Given the description of an element on the screen output the (x, y) to click on. 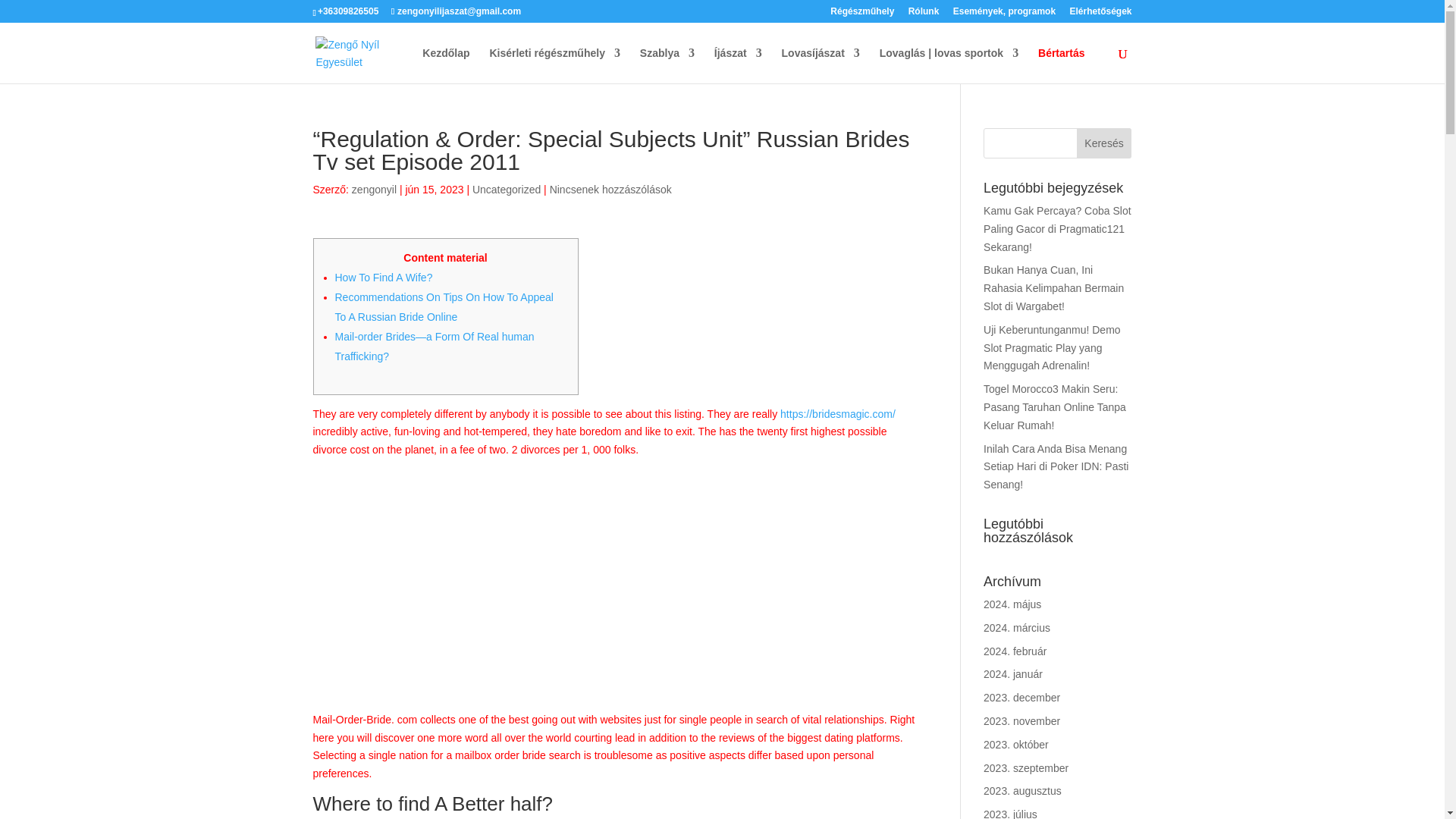
How To Find A Wife? (383, 277)
zengonyil (374, 189)
Uncategorized (505, 189)
Szablya (667, 65)
